Given the description of an element on the screen output the (x, y) to click on. 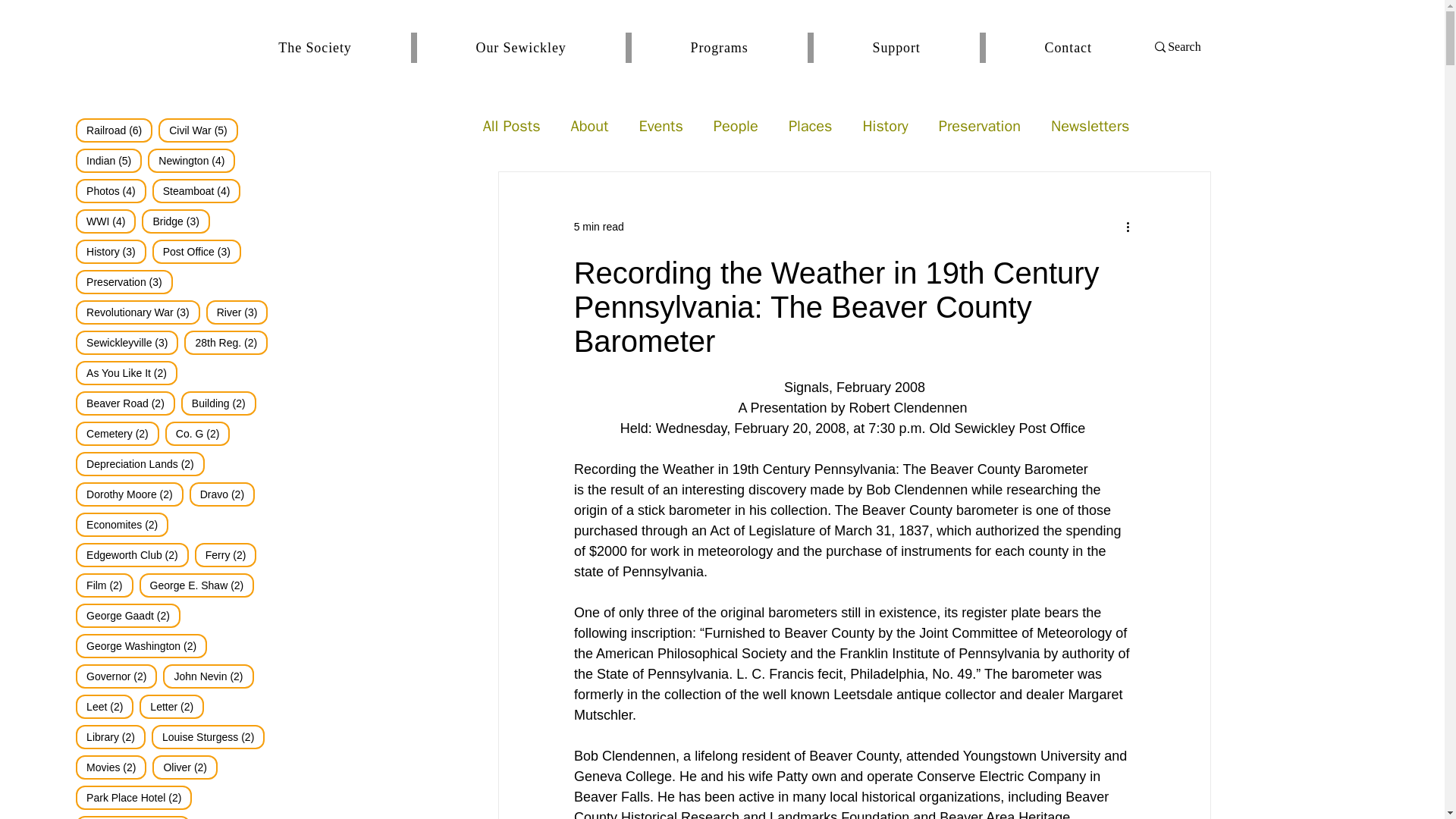
People (735, 125)
Events (660, 125)
History (884, 125)
Newsletters (1090, 125)
5 min read (598, 225)
All Posts (511, 125)
Preservation (979, 125)
About (589, 125)
Places (810, 125)
